Given the description of an element on the screen output the (x, y) to click on. 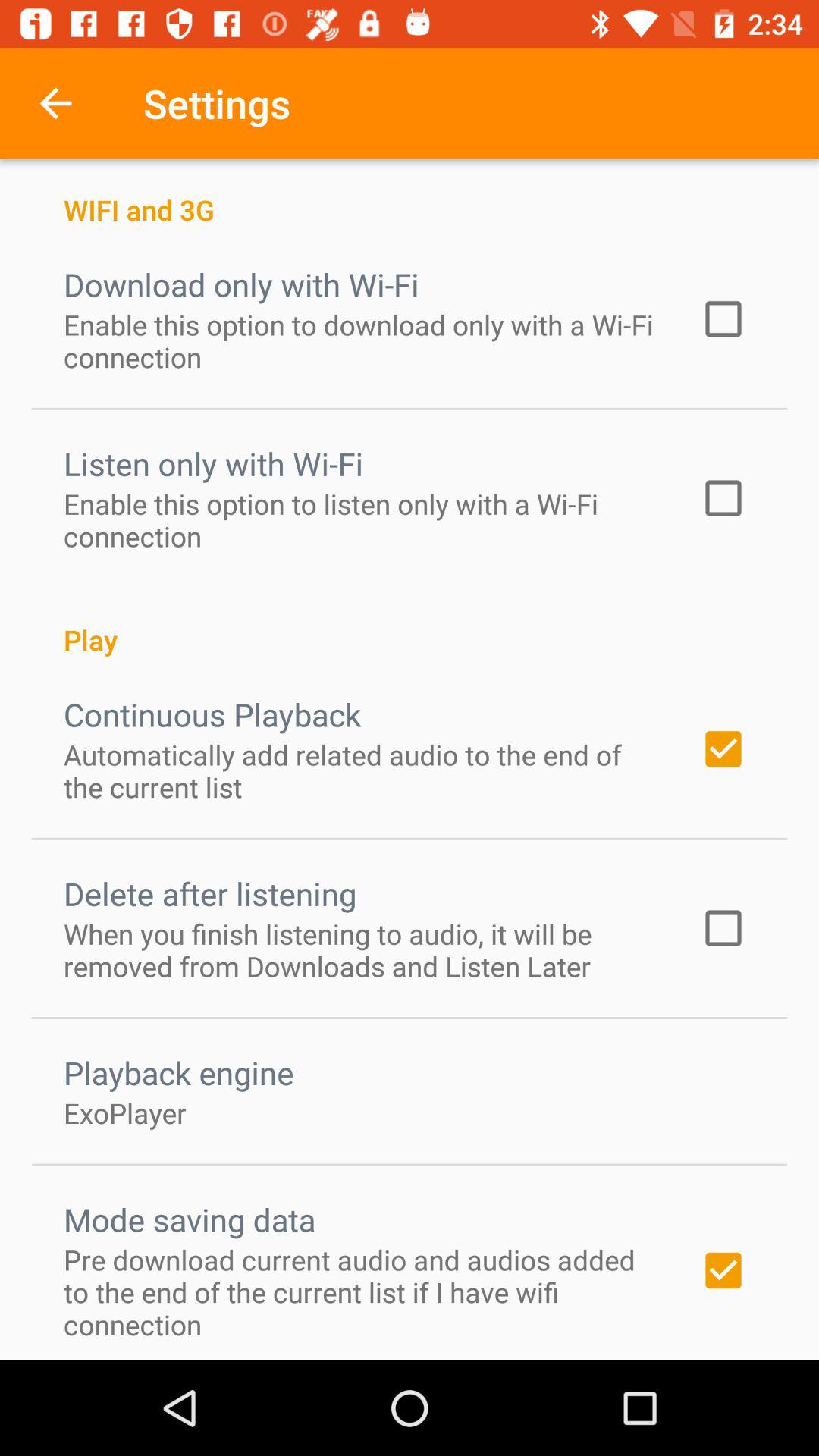
flip to the continuous playback item (212, 713)
